Given the description of an element on the screen output the (x, y) to click on. 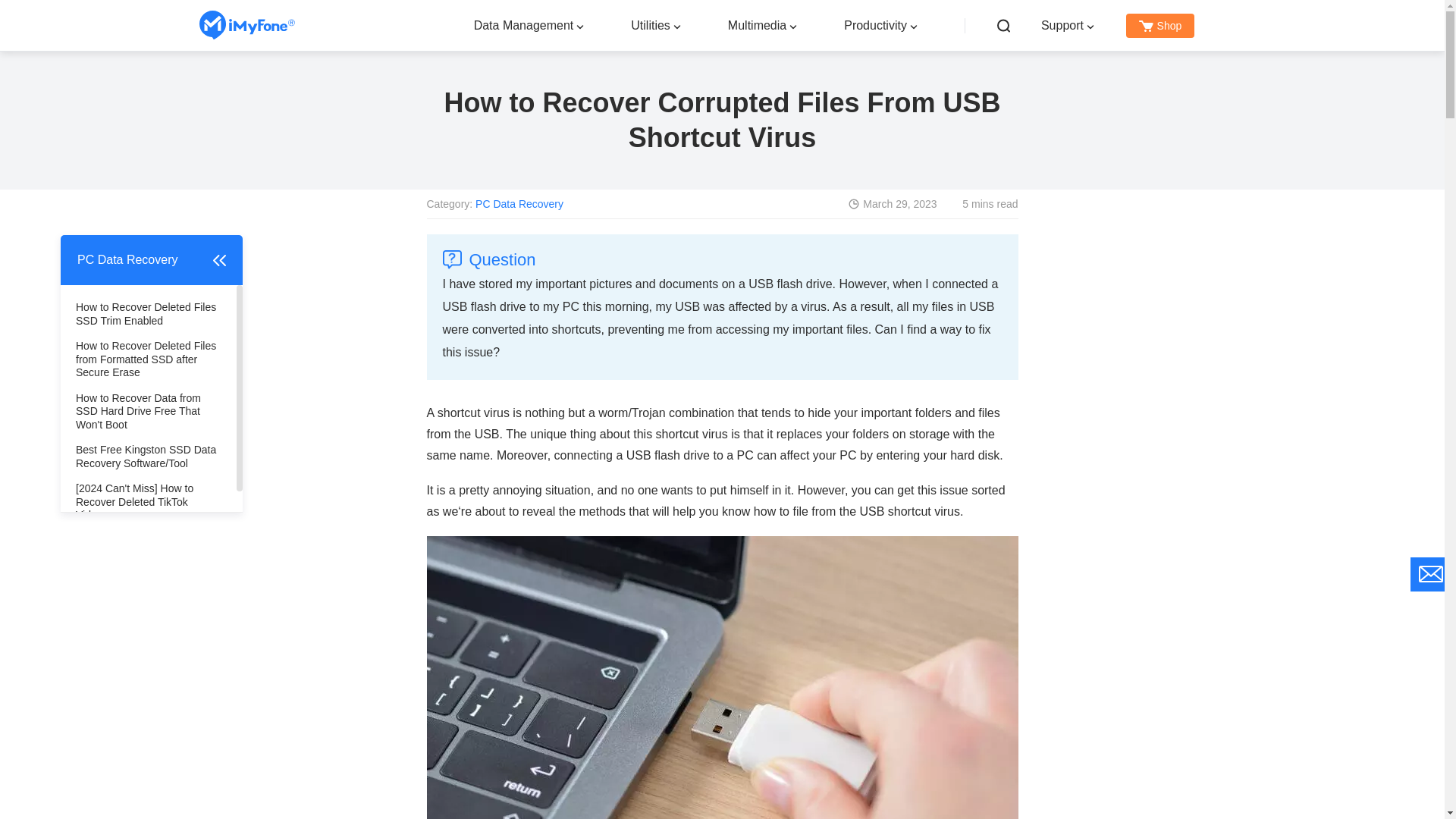
Multimedia (757, 24)
Data Management (523, 24)
Utilities (649, 24)
